Given the description of an element on the screen output the (x, y) to click on. 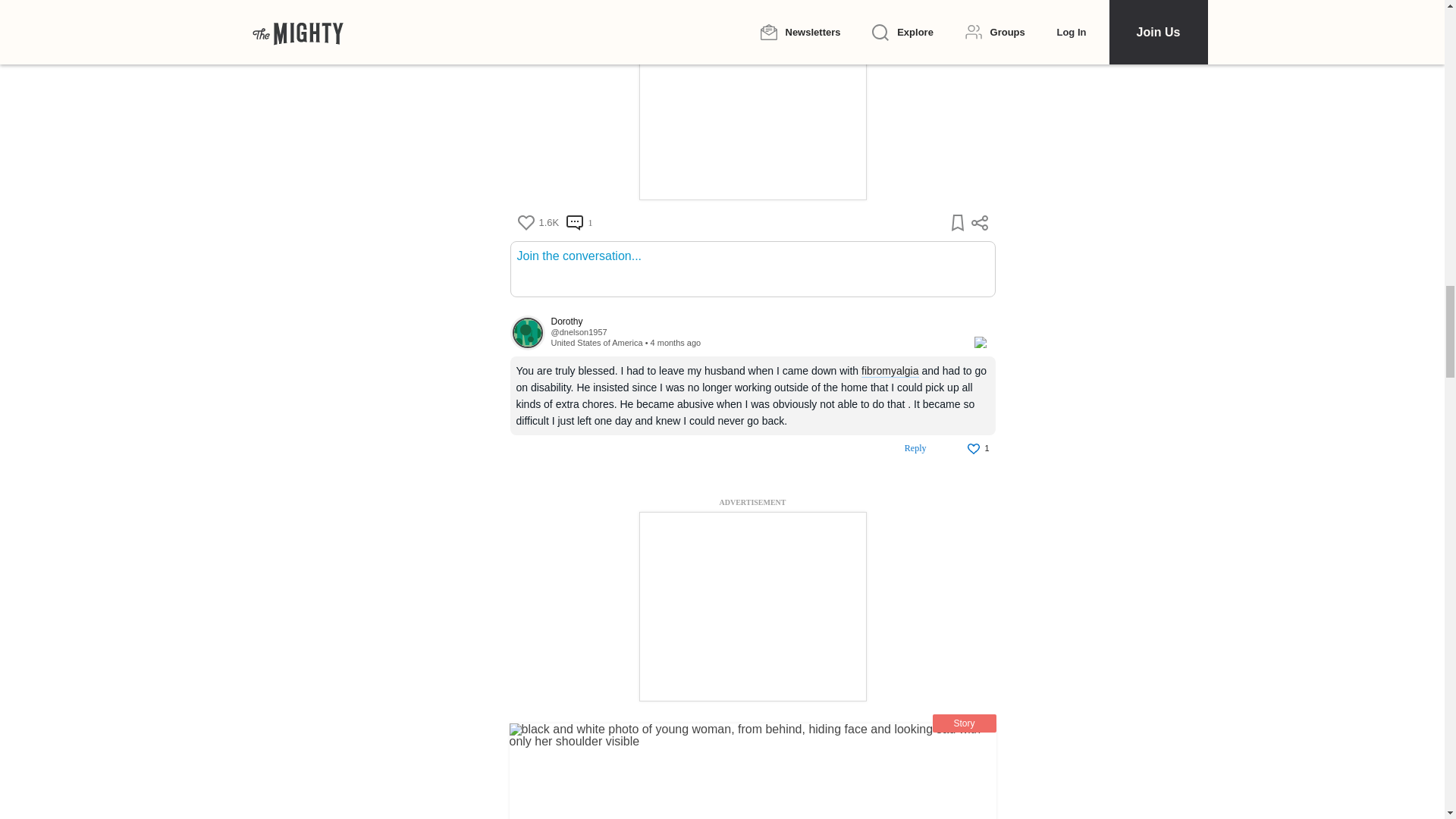
fibromyalgia (889, 370)
View their profile (578, 331)
View their profile (526, 332)
View their profile (754, 321)
The Words That Haunt Me as Someone Living With Chronic Pain (752, 771)
1.6K (537, 222)
